Given the description of an element on the screen output the (x, y) to click on. 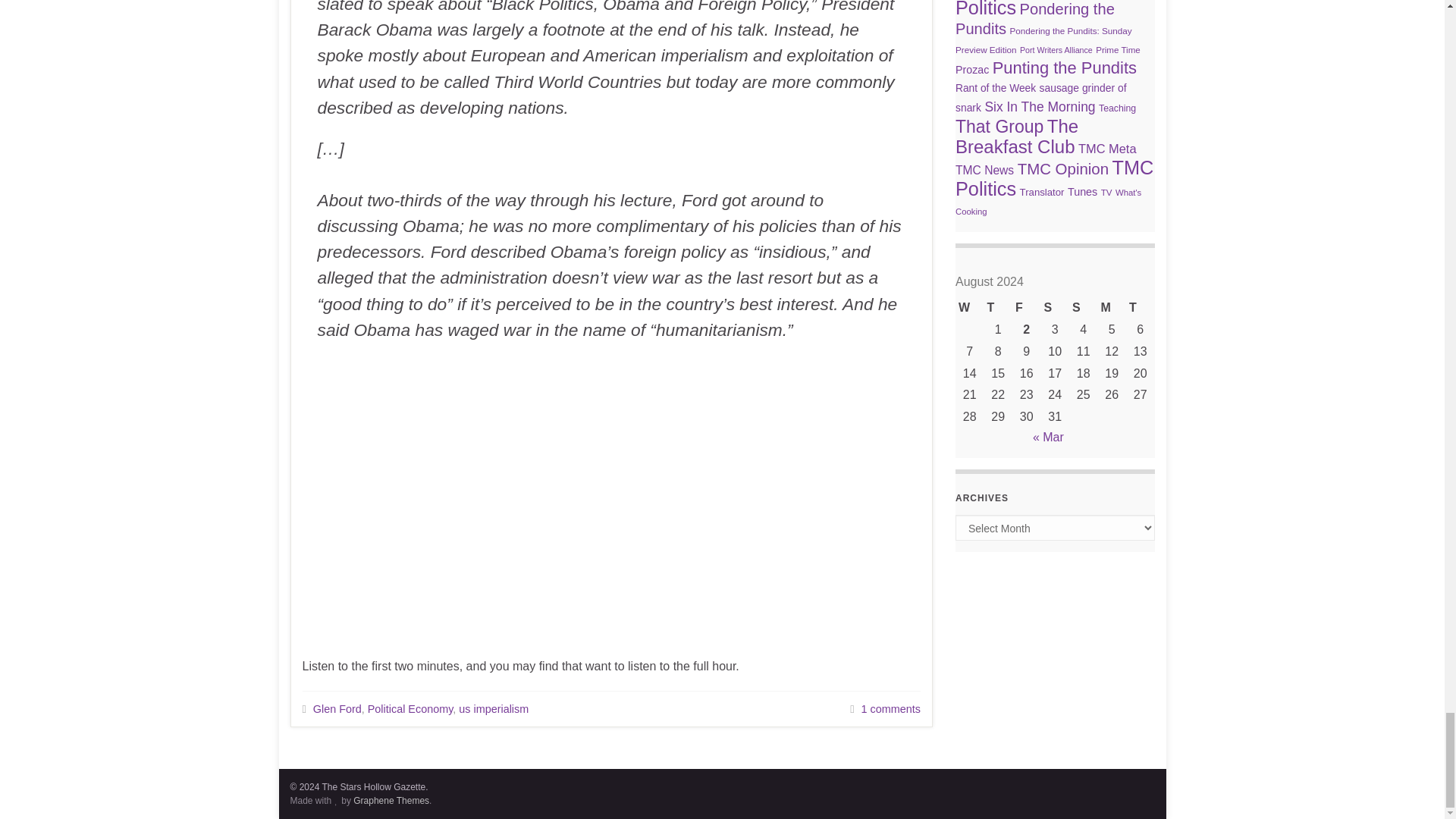
Sunday (1082, 308)
Monday (1111, 308)
Saturday (1054, 308)
Wednesday (969, 308)
Friday (1026, 308)
Thursday (998, 308)
